Given the description of an element on the screen output the (x, y) to click on. 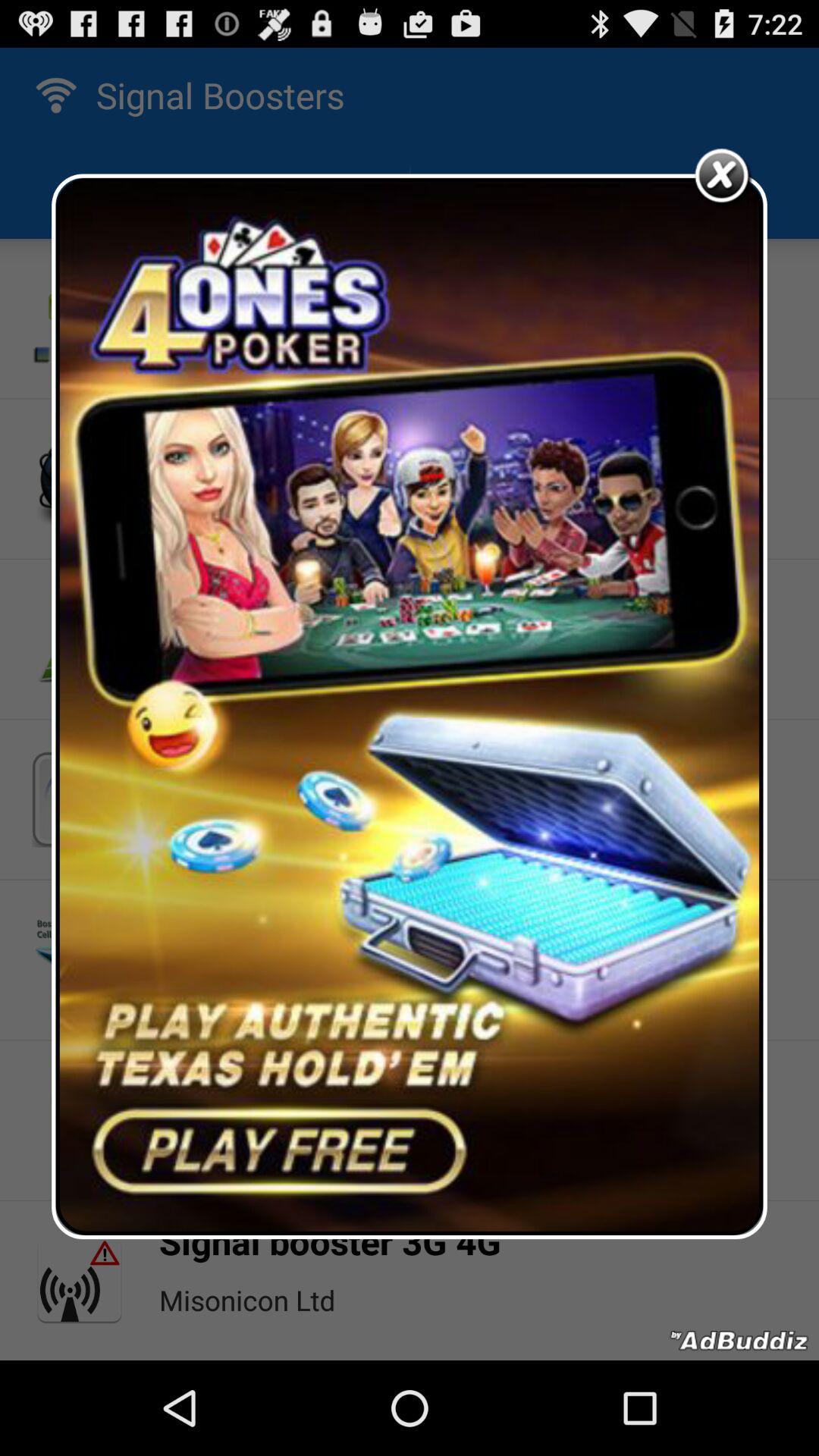
go to advertised game (409, 706)
